Given the description of an element on the screen output the (x, y) to click on. 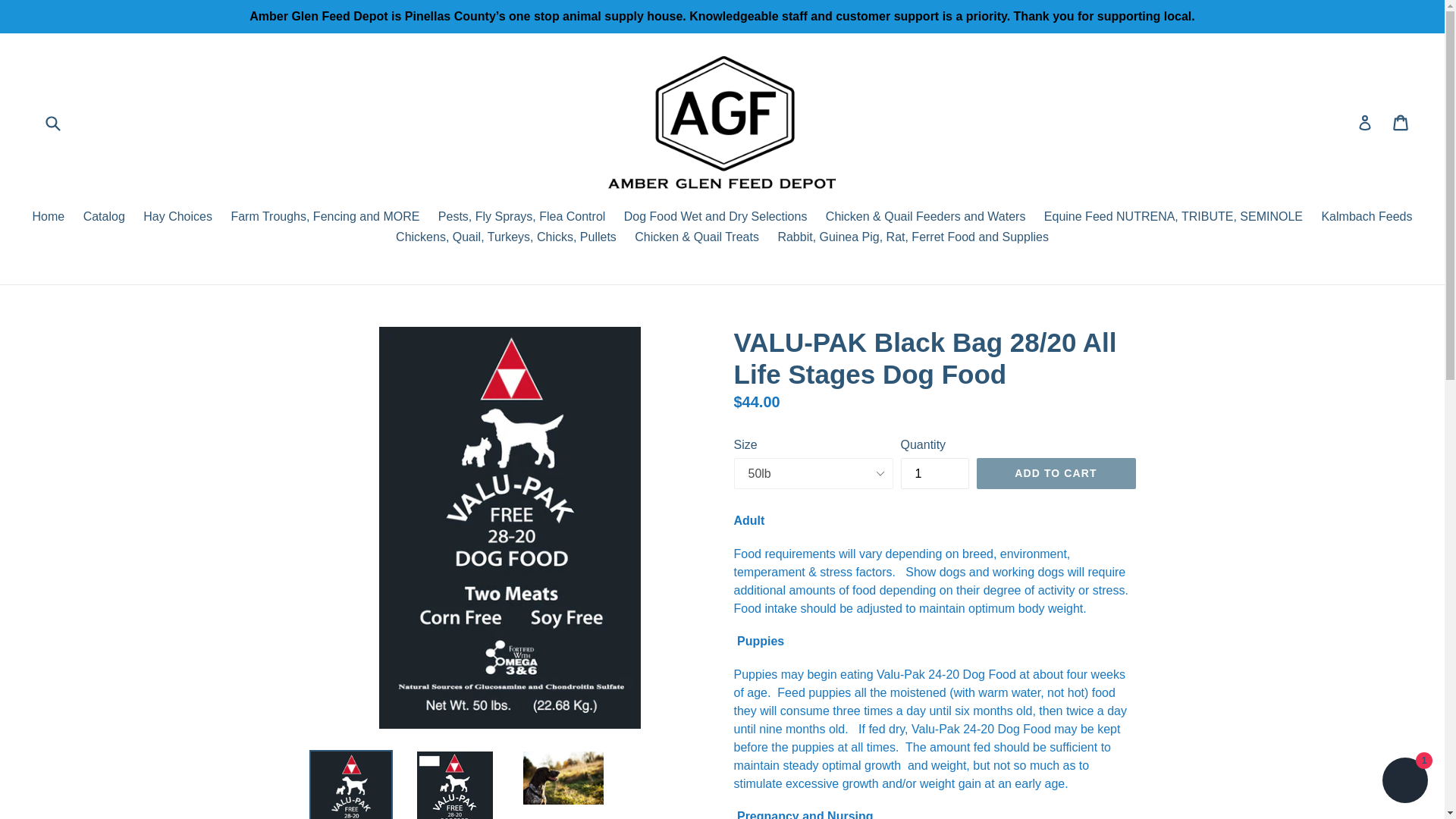
Rabbit, Guinea Pig, Rat, Ferret Food and Supplies (913, 238)
Shopify online store chat (1404, 781)
Catalog (103, 218)
Hay Choices (177, 218)
ADD TO CART (1055, 473)
Farm Troughs, Fencing and MORE (324, 218)
Home (47, 218)
1 (935, 472)
Equine Feed NUTRENA, TRIBUTE, SEMINOLE (1173, 218)
Kalmbach Feeds (1366, 218)
Chickens, Quail, Turkeys, Chicks, Pullets (506, 238)
Dog Food Wet and Dry Selections (715, 218)
Pests, Fly Sprays, Flea Control (521, 218)
